Given the description of an element on the screen output the (x, y) to click on. 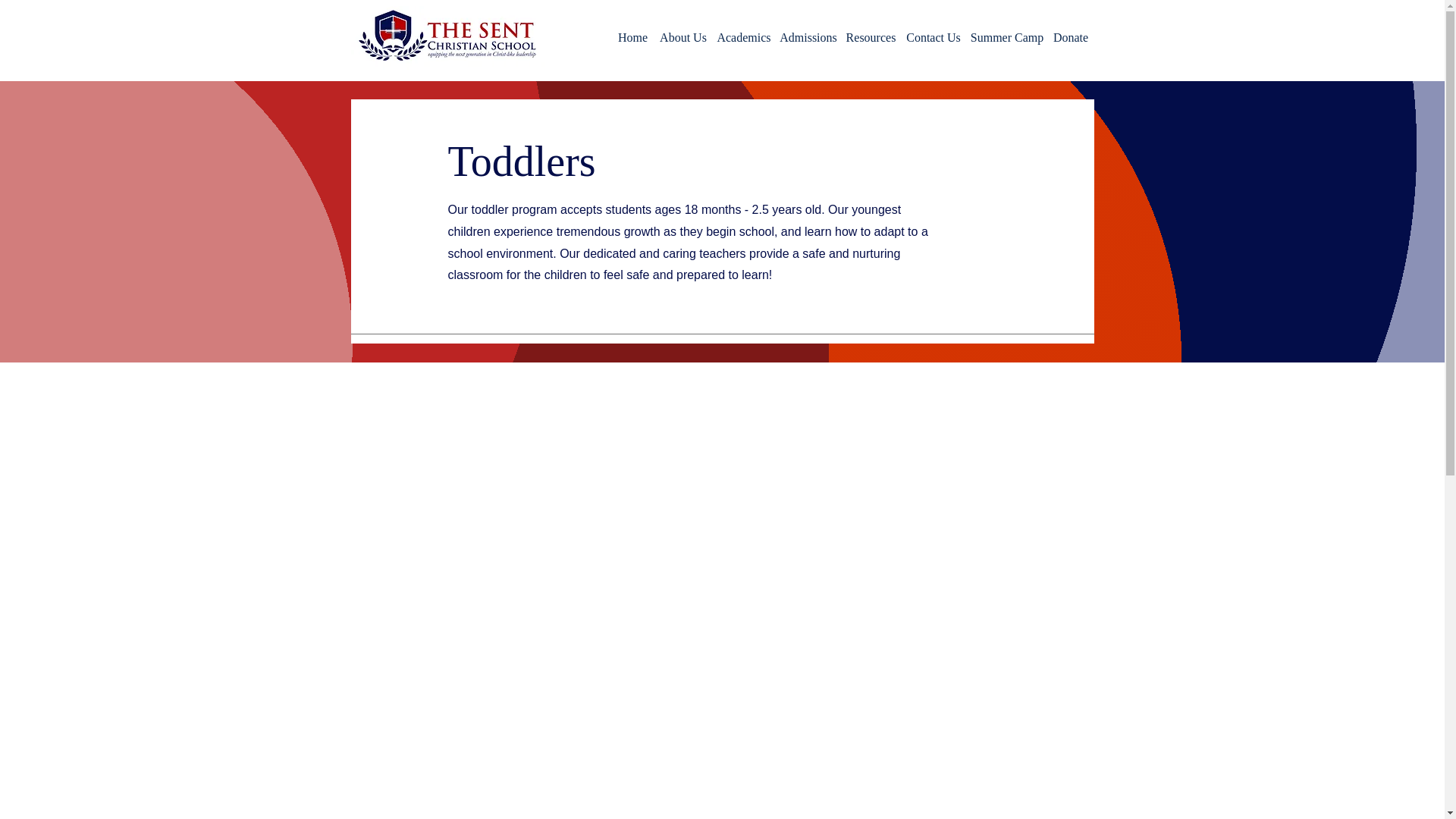
Resources (871, 37)
Donate (1071, 37)
About Us (682, 37)
Academics (744, 37)
Contact Us (933, 37)
Home (632, 37)
Summer Camp (1006, 37)
Admissions (807, 37)
